Given the description of an element on the screen output the (x, y) to click on. 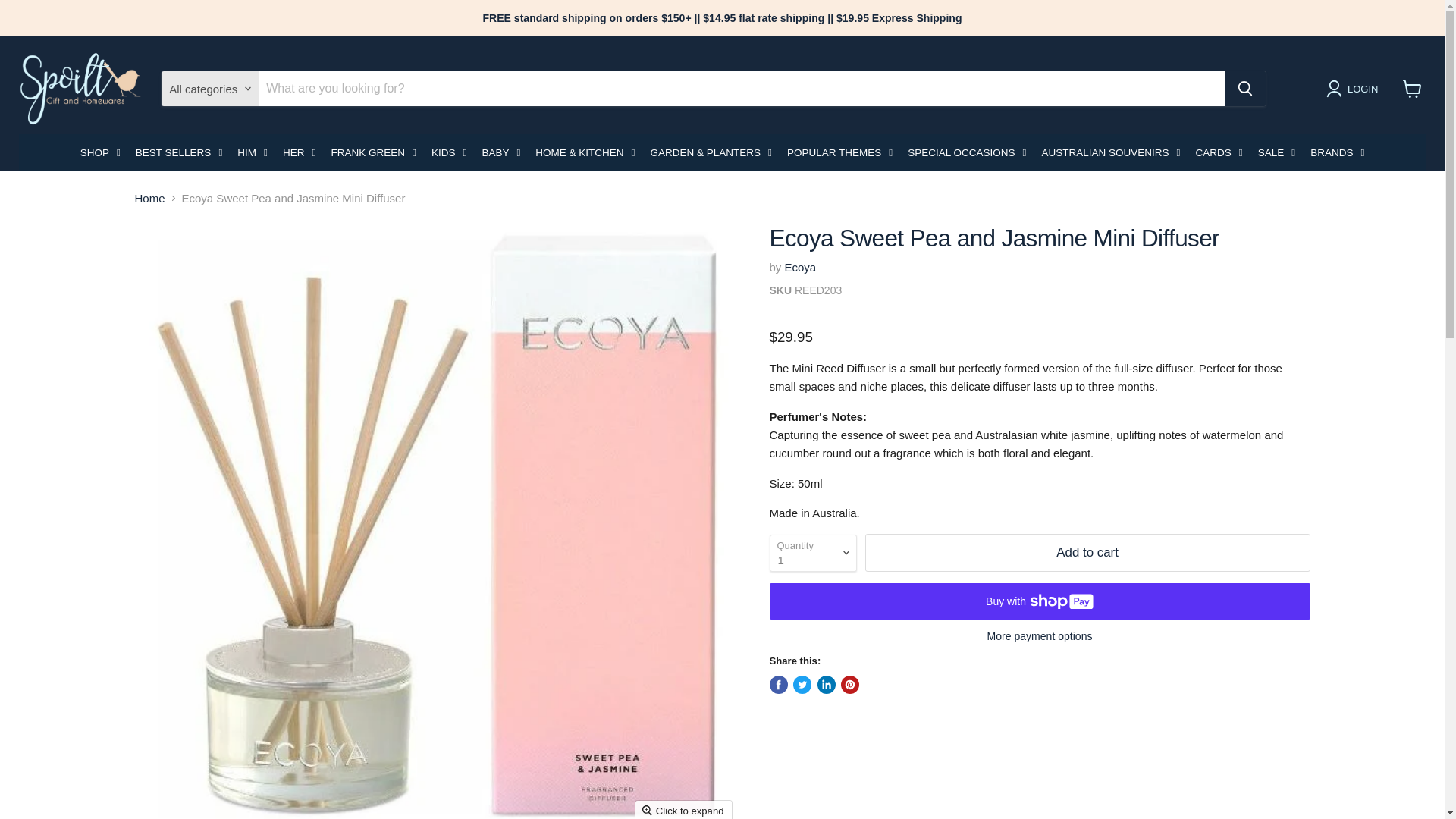
Shop (100, 152)
LOGIN (1362, 88)
View cart (1411, 88)
SHOP (100, 152)
